Given the description of an element on the screen output the (x, y) to click on. 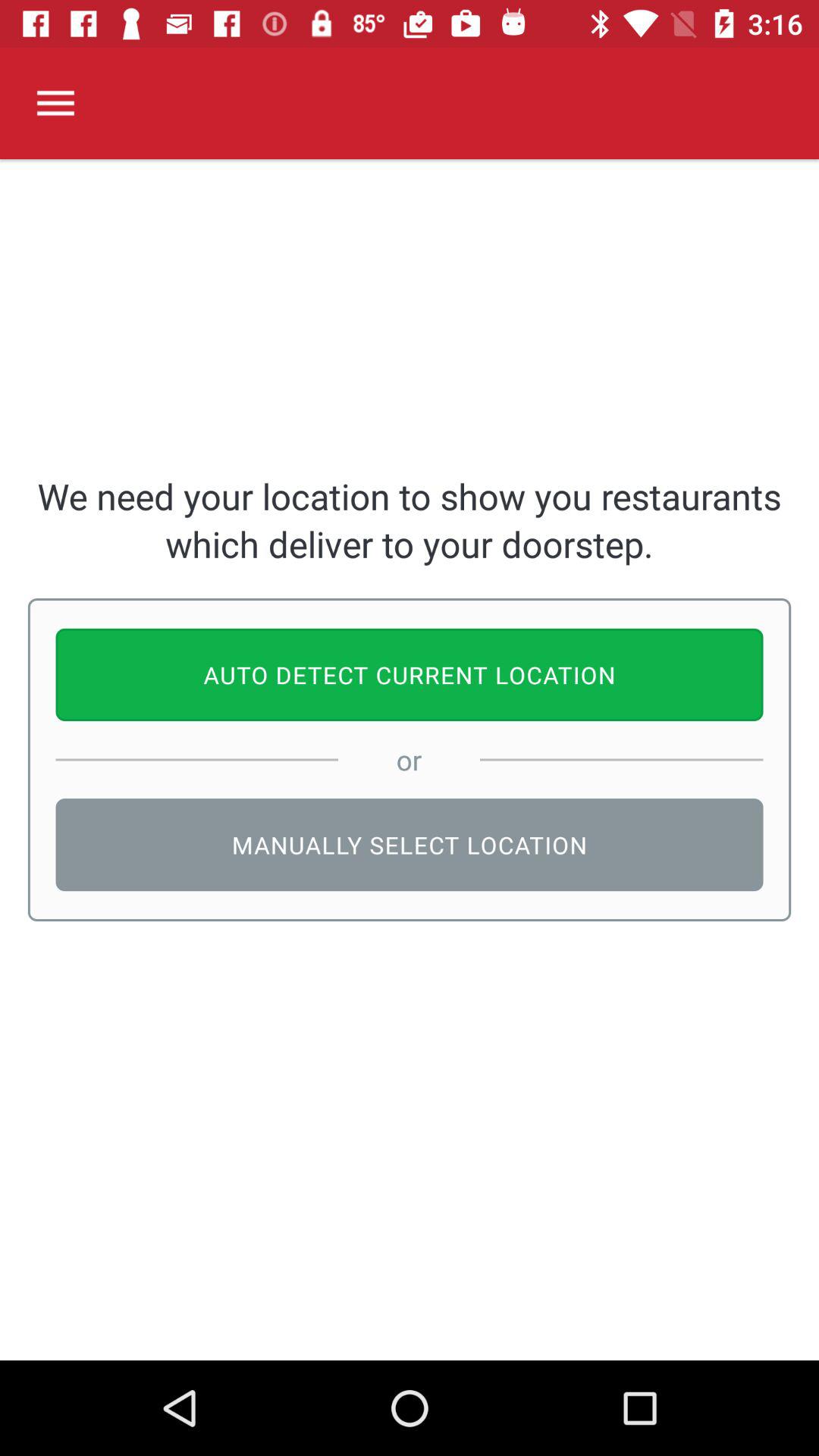
launch icon above we need your item (55, 103)
